Given the description of an element on the screen output the (x, y) to click on. 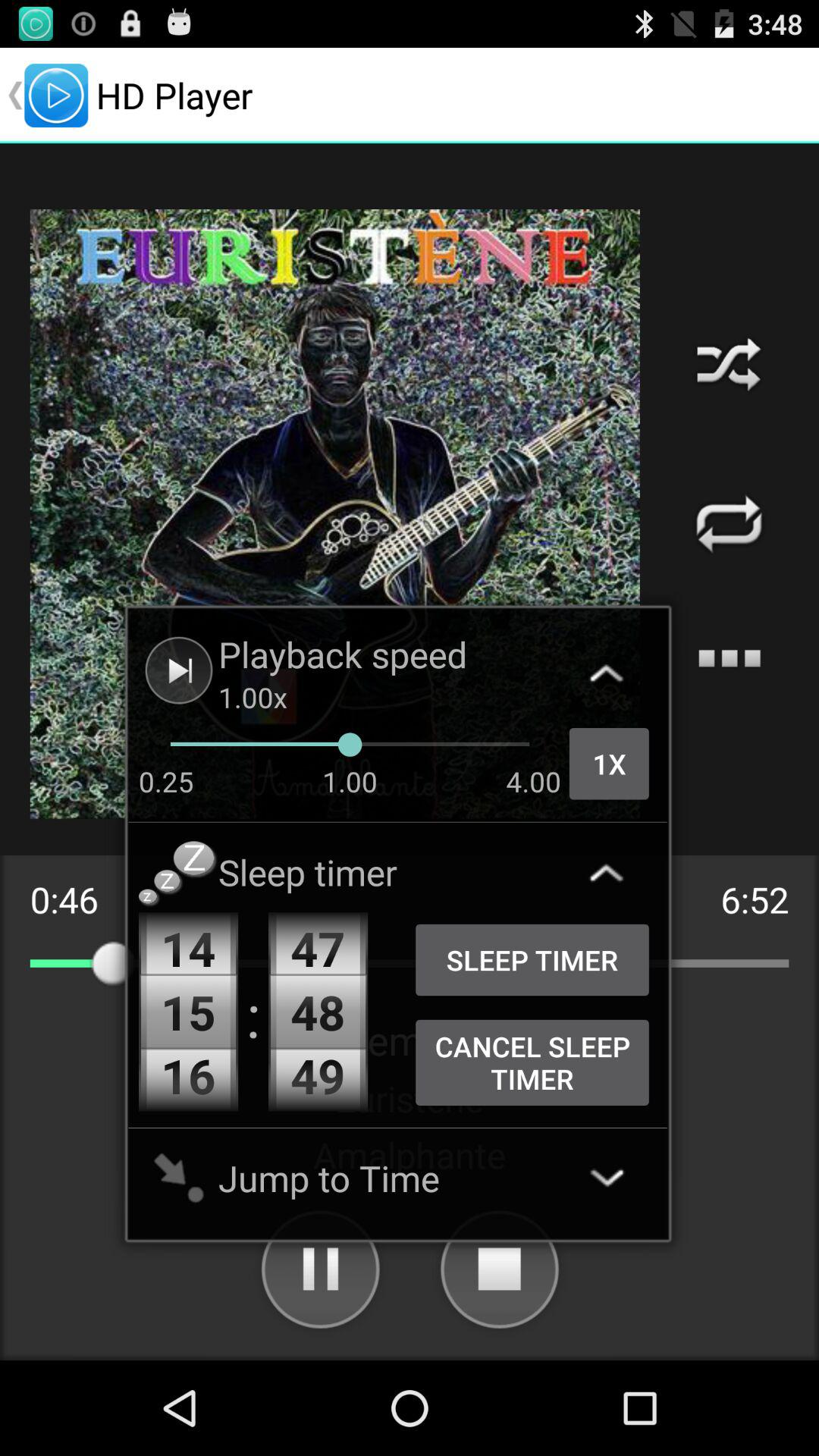
choose the 1x icon (608, 763)
